Given the description of an element on the screen output the (x, y) to click on. 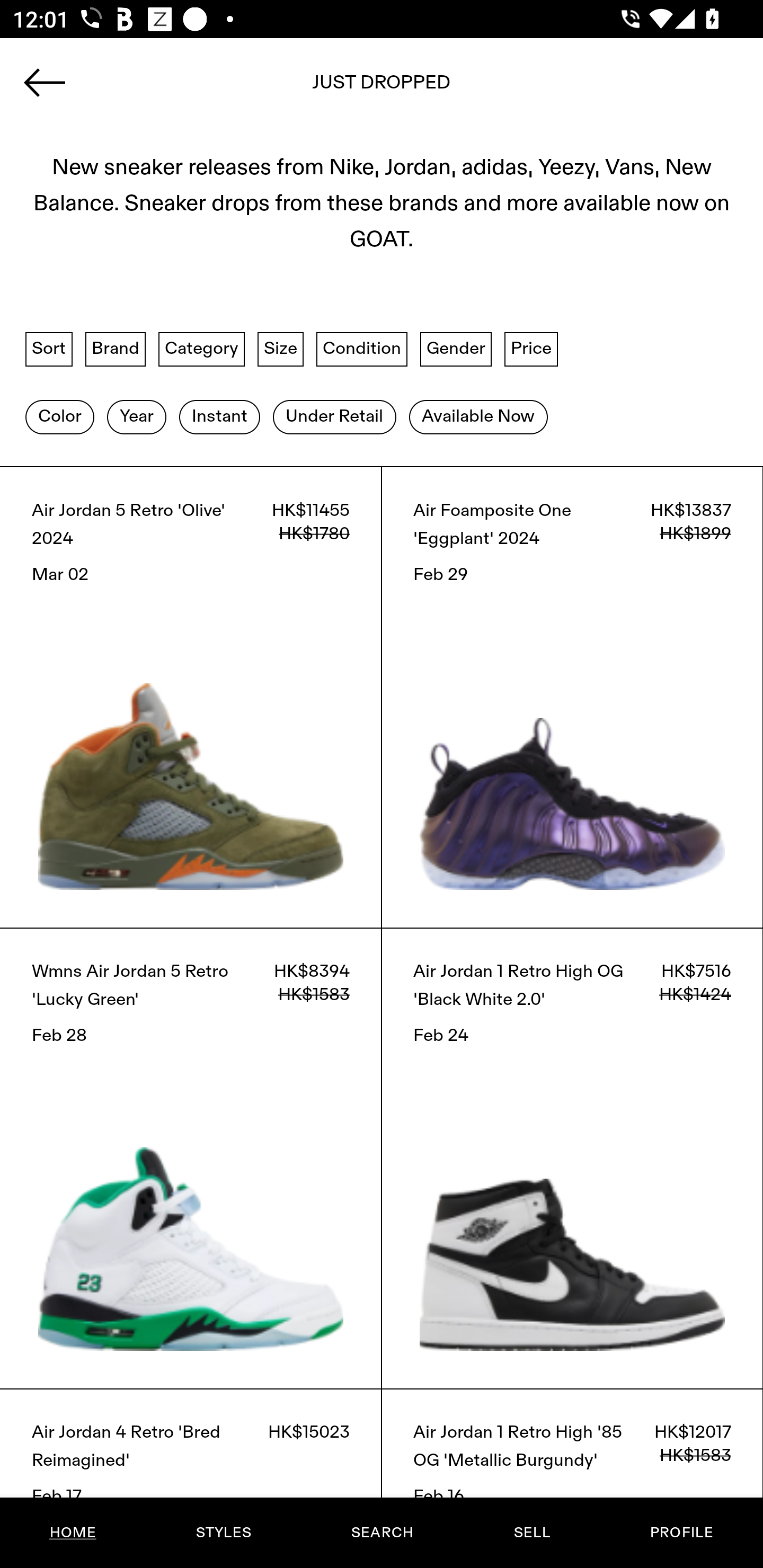
Search (381, 88)
Sort (48, 348)
Brand (115, 348)
Category (201, 348)
Size (280, 348)
Condition (361, 348)
Gender (455, 348)
Price (530, 348)
Color (59, 416)
Year (136, 416)
Instant (219, 416)
Under Retail (334, 416)
Available Now (477, 416)
HOME (72, 1532)
STYLES (222, 1532)
SEARCH (381, 1532)
SELL (531, 1532)
PROFILE (681, 1532)
